Given the description of an element on the screen output the (x, y) to click on. 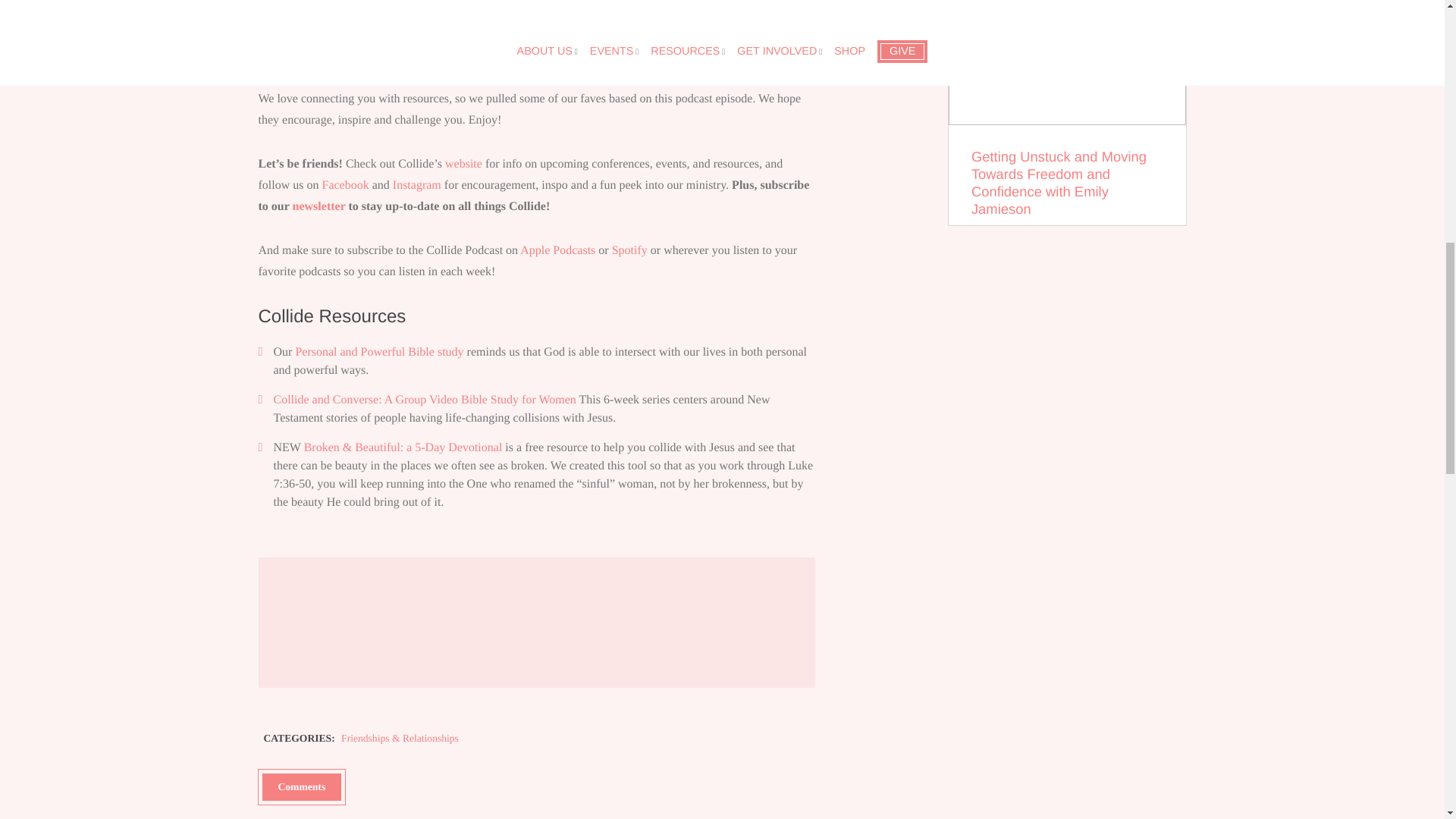
Embed Player (536, 620)
